Given the description of an element on the screen output the (x, y) to click on. 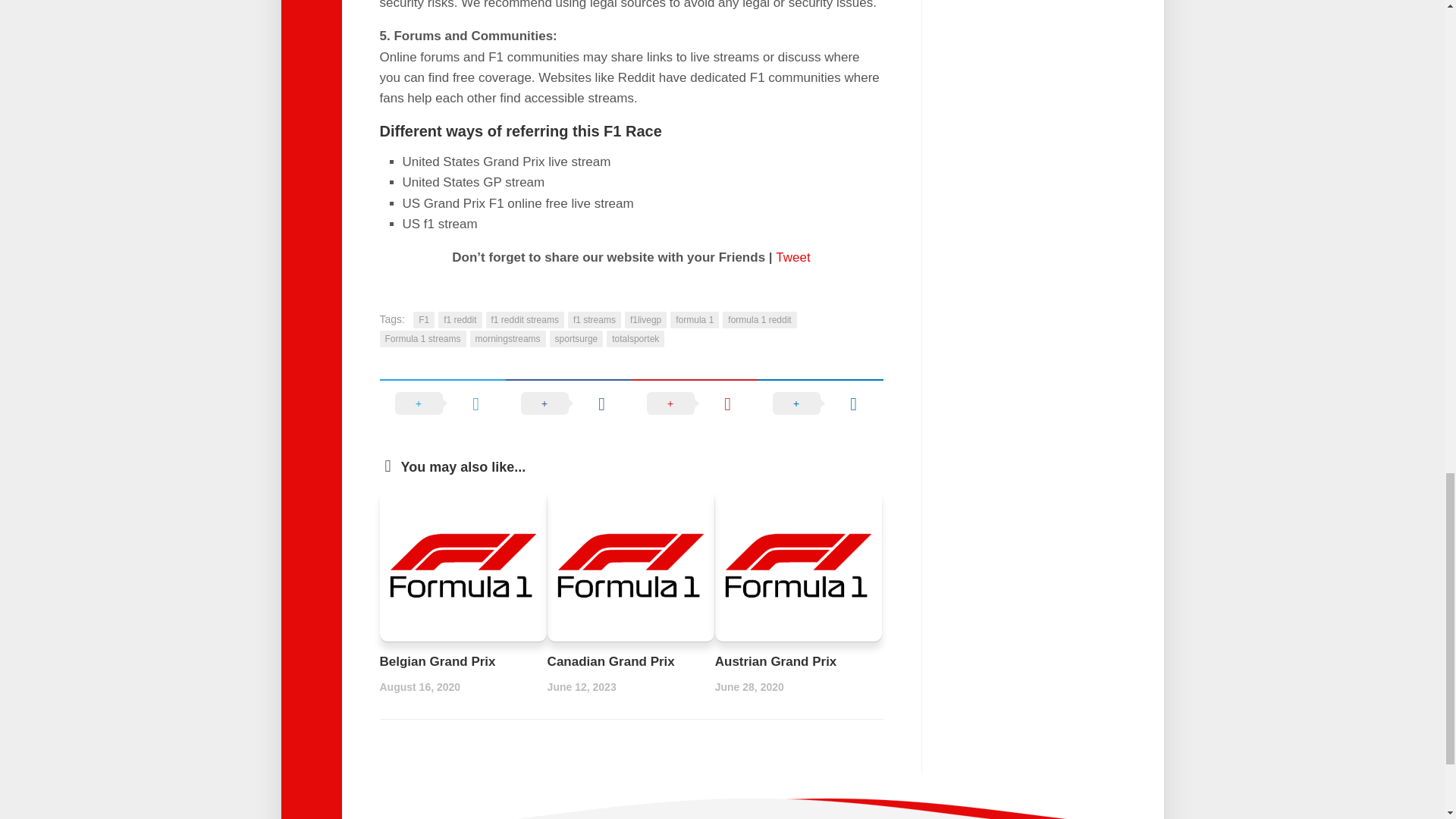
Tweet (792, 257)
Belgian Grand Prix (436, 661)
morningstreams (508, 338)
f1 reddit streams (525, 320)
formula 1 (694, 320)
F1 (423, 320)
totalsportek (635, 338)
Share on Pinterest (693, 403)
f1 reddit (459, 320)
Share on LinkedIn (819, 403)
Share on X (441, 403)
f1 streams (594, 320)
sportsurge (577, 338)
Austrian Grand Prix (775, 661)
Canadian Grand Prix (611, 661)
